Given the description of an element on the screen output the (x, y) to click on. 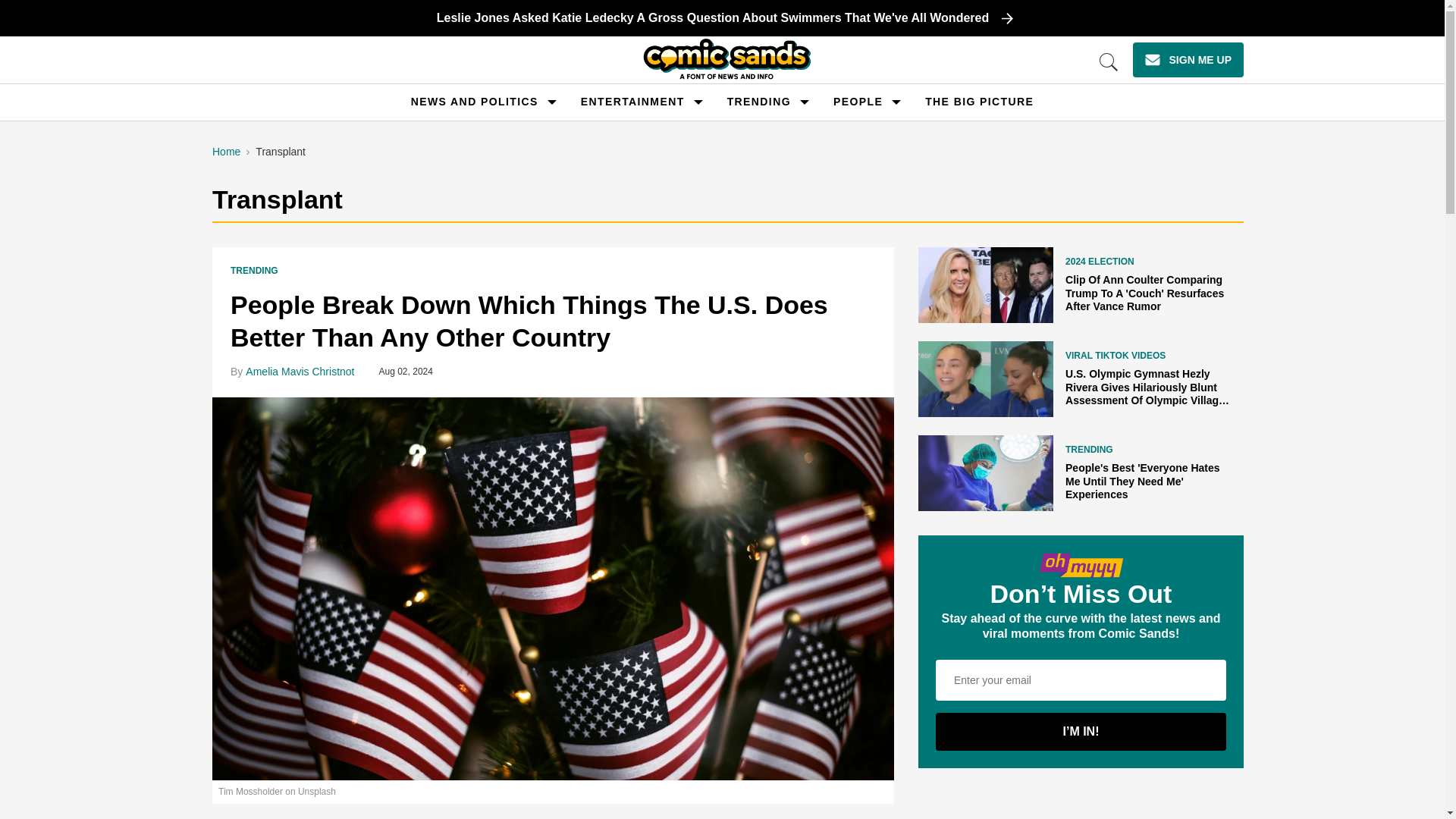
SIGN ME UP (1187, 59)
NEWS AND POLITICS (474, 101)
Open Search (1108, 61)
Open Search (1108, 61)
